Given the description of an element on the screen output the (x, y) to click on. 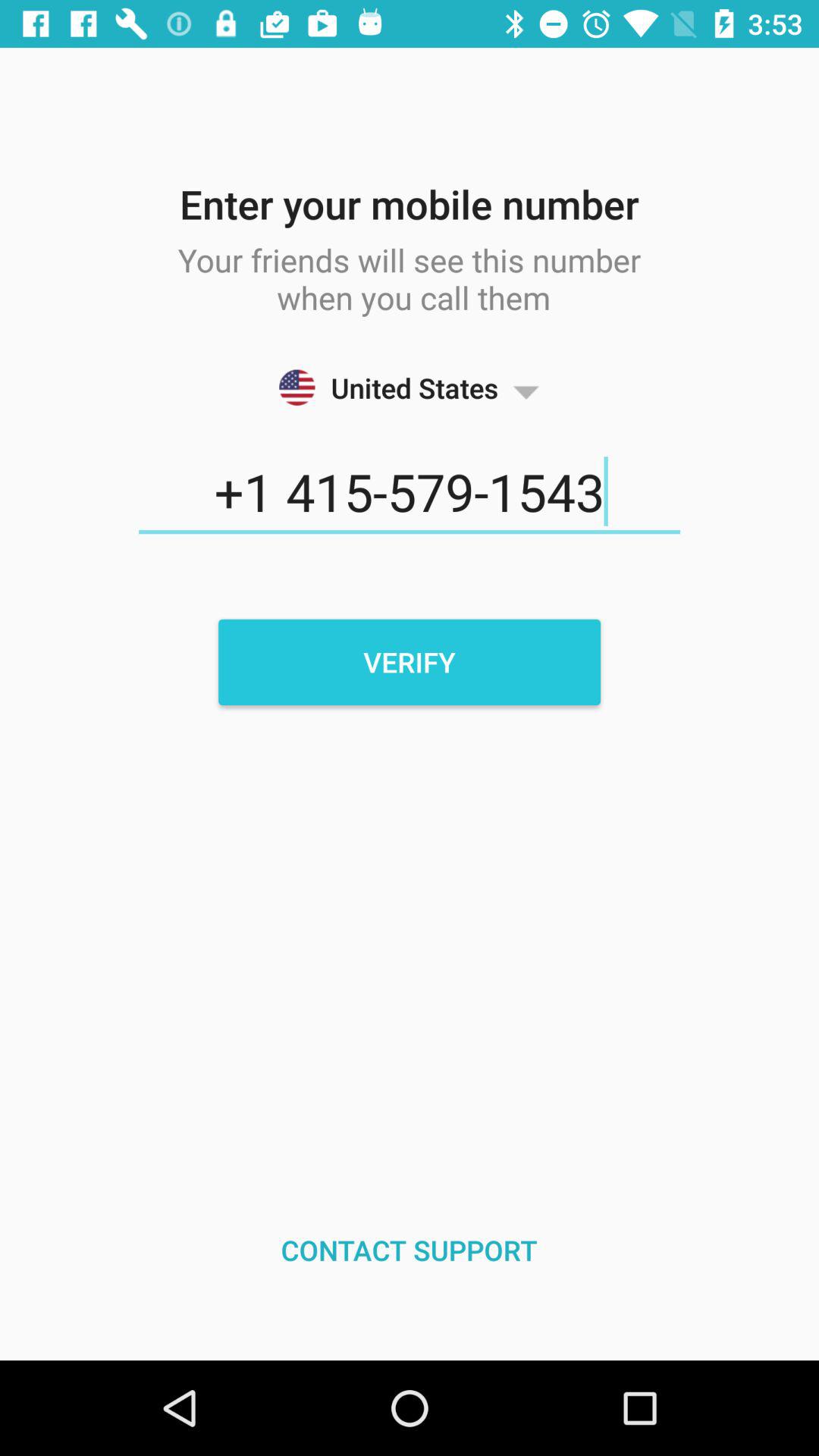
scroll until the 1 415 579 item (409, 491)
